Given the description of an element on the screen output the (x, y) to click on. 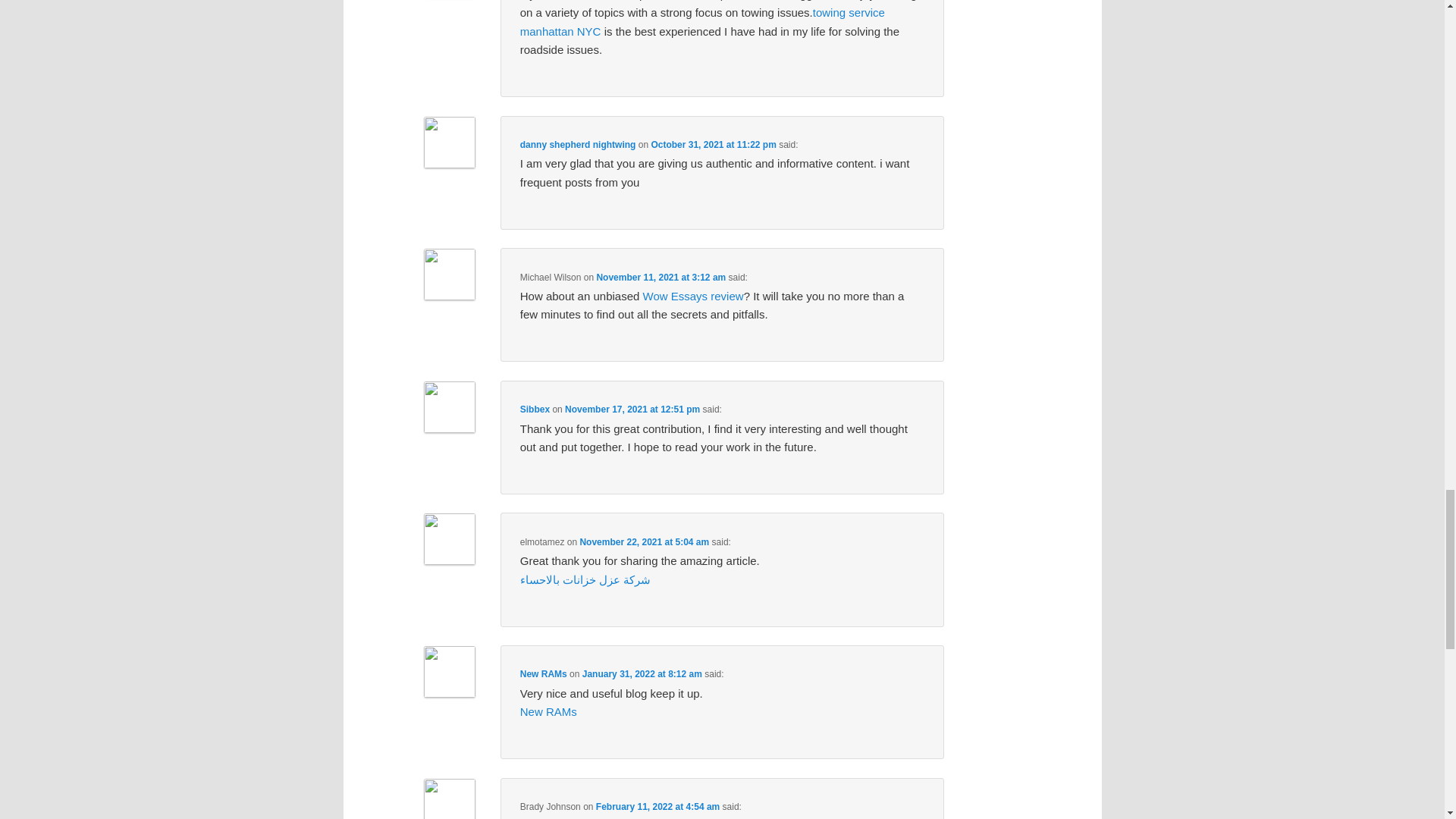
Sibbex (534, 409)
November 11, 2021 at 3:12 am (660, 276)
November 22, 2021 at 5:04 am (644, 542)
November 17, 2021 at 12:51 pm (632, 409)
Wow Essays review (693, 295)
towing service manhattan NYC (702, 20)
October 31, 2021 at 11:22 pm (713, 144)
danny shepherd nightwing (577, 144)
